Given the description of an element on the screen output the (x, y) to click on. 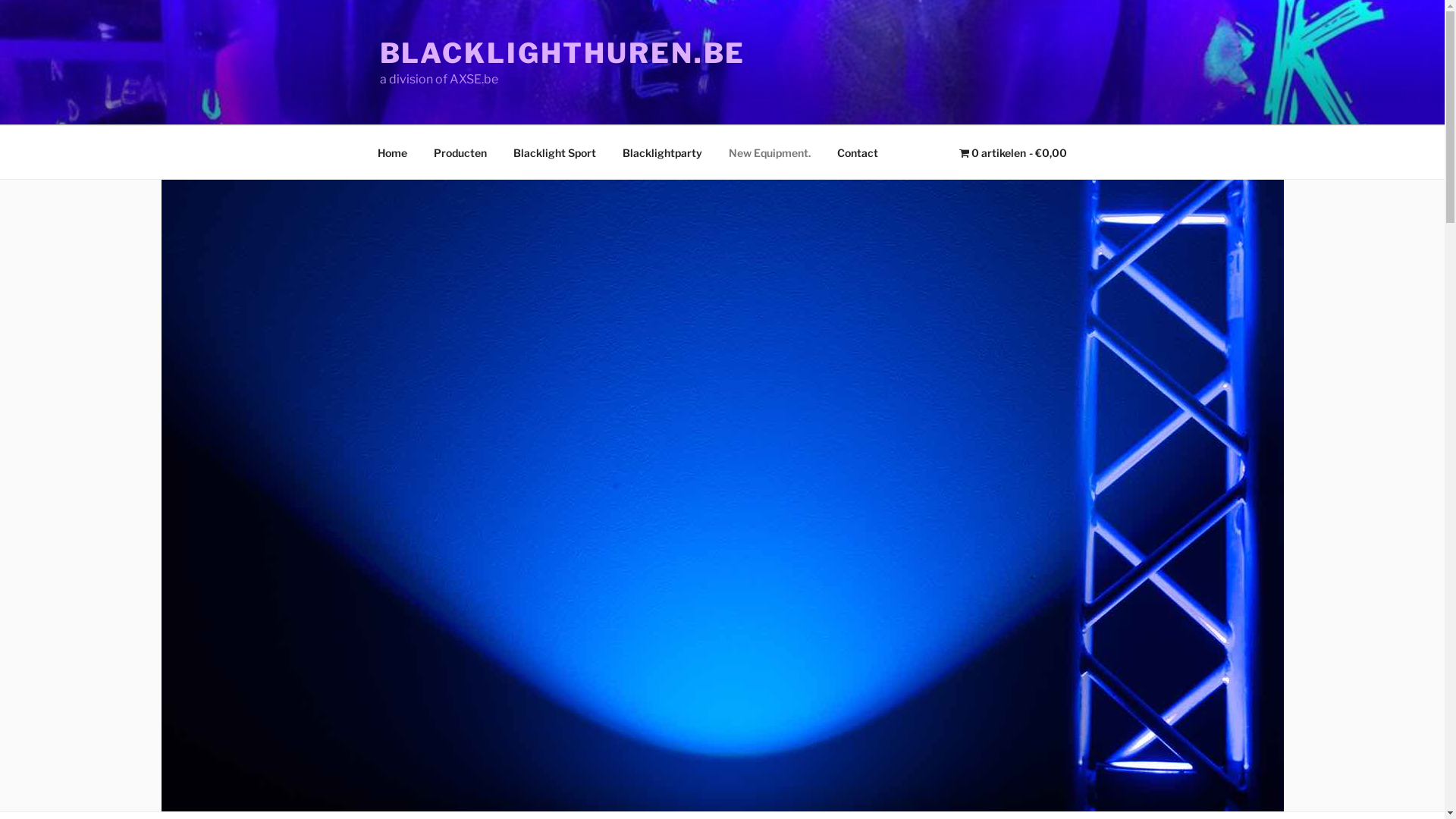
Contact Element type: text (857, 151)
New Equipment. Element type: text (769, 151)
Blacklightparty Element type: text (662, 151)
Blacklight Sport Element type: text (554, 151)
Producten Element type: text (459, 151)
BLACKLIGHTHUREN.BE Element type: text (562, 52)
Home Element type: text (392, 151)
